Given the description of an element on the screen output the (x, y) to click on. 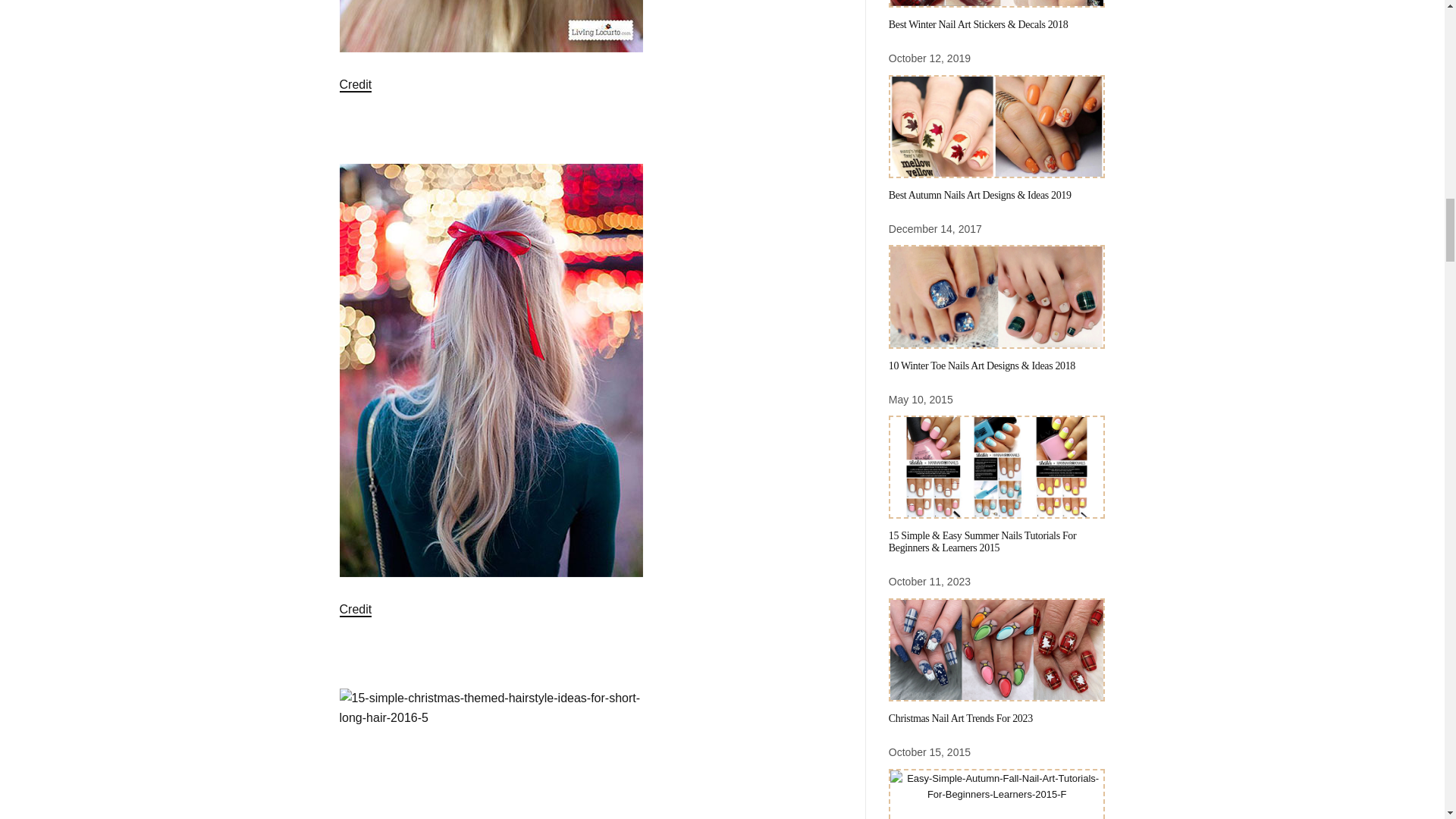
Credit (355, 84)
Credit (355, 609)
